Given the description of an element on the screen output the (x, y) to click on. 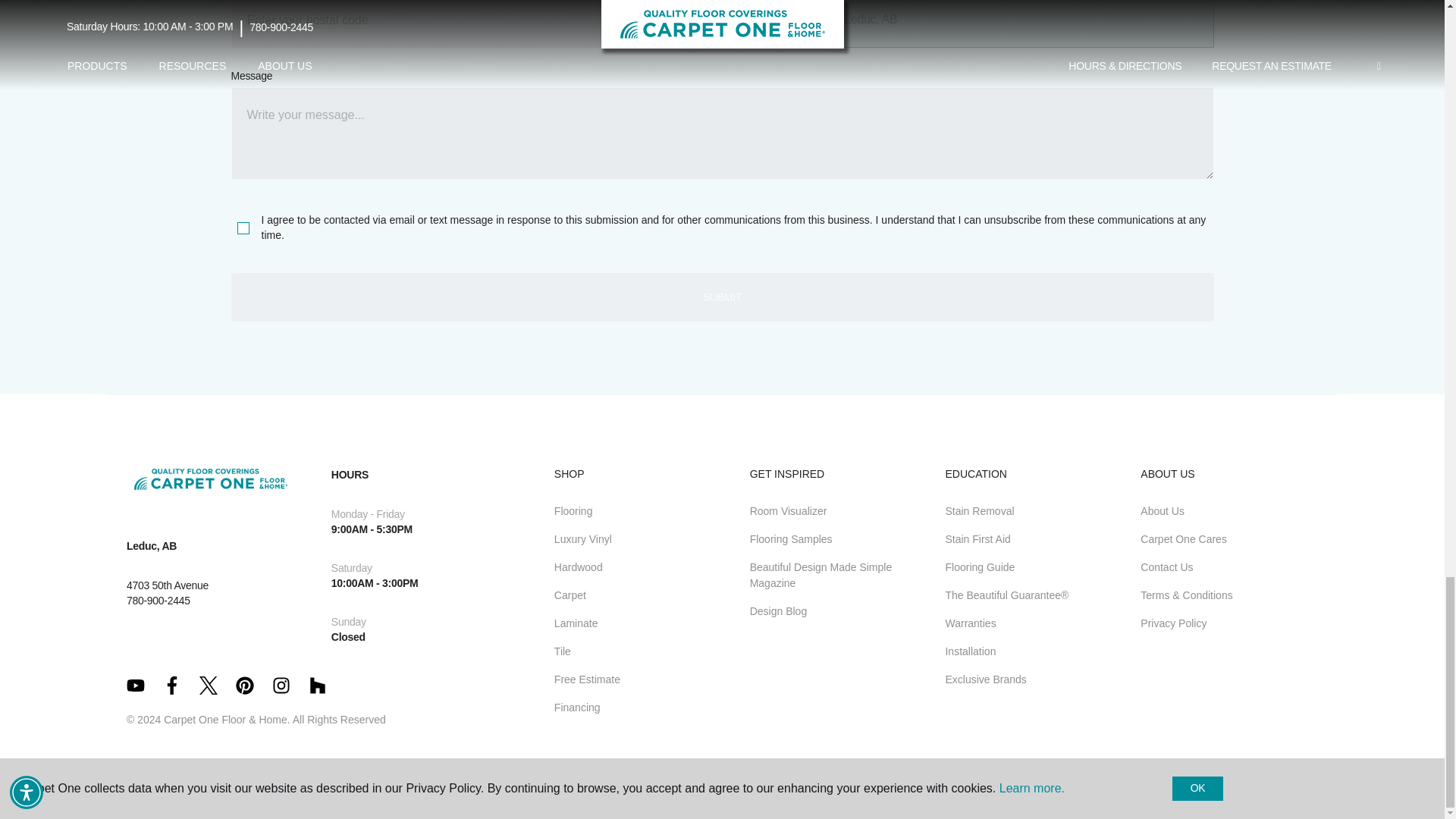
PostalCode (471, 24)
MyMessage (721, 132)
